Given the description of an element on the screen output the (x, y) to click on. 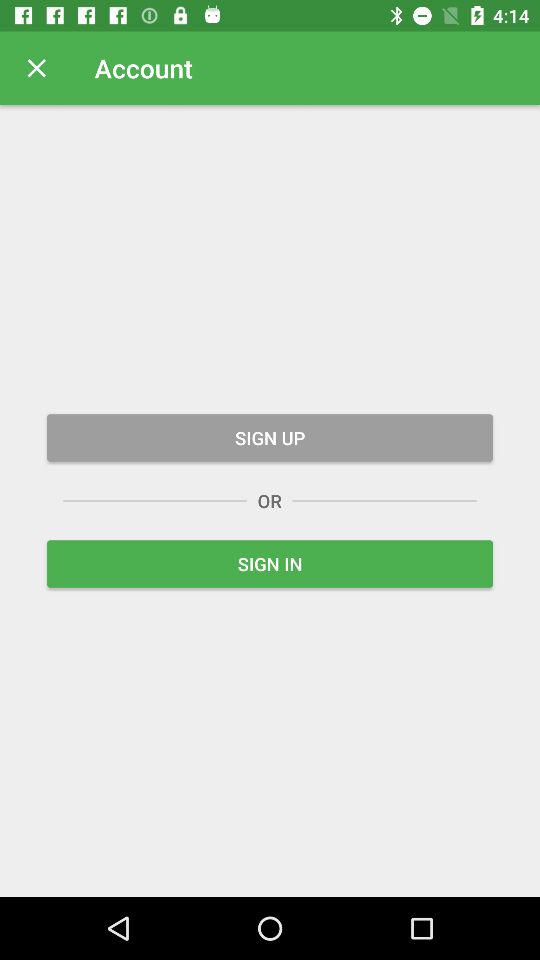
swipe to sign in (269, 563)
